Given the description of an element on the screen output the (x, y) to click on. 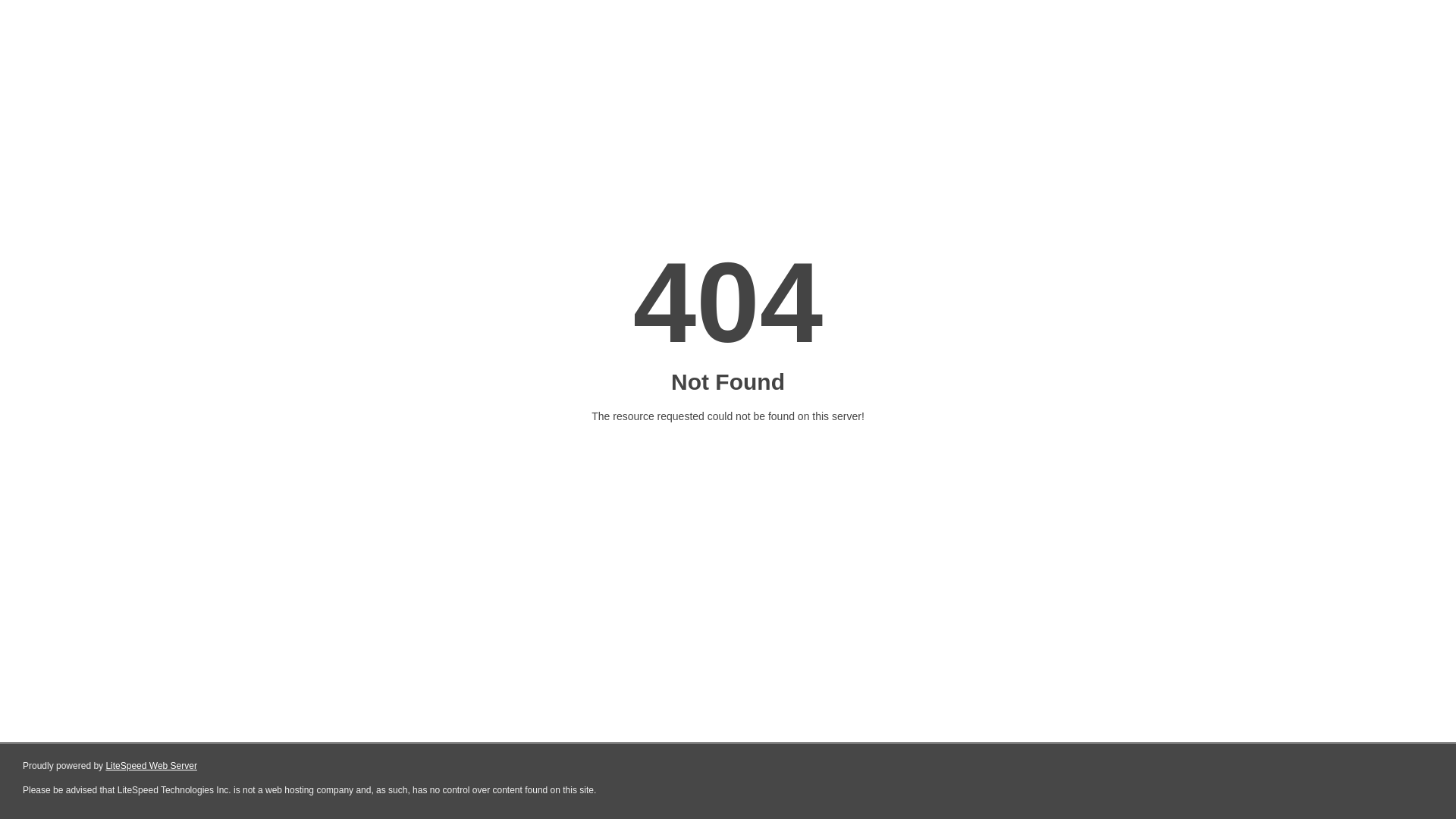
LiteSpeed Web Server Element type: text (151, 765)
